Given the description of an element on the screen output the (x, y) to click on. 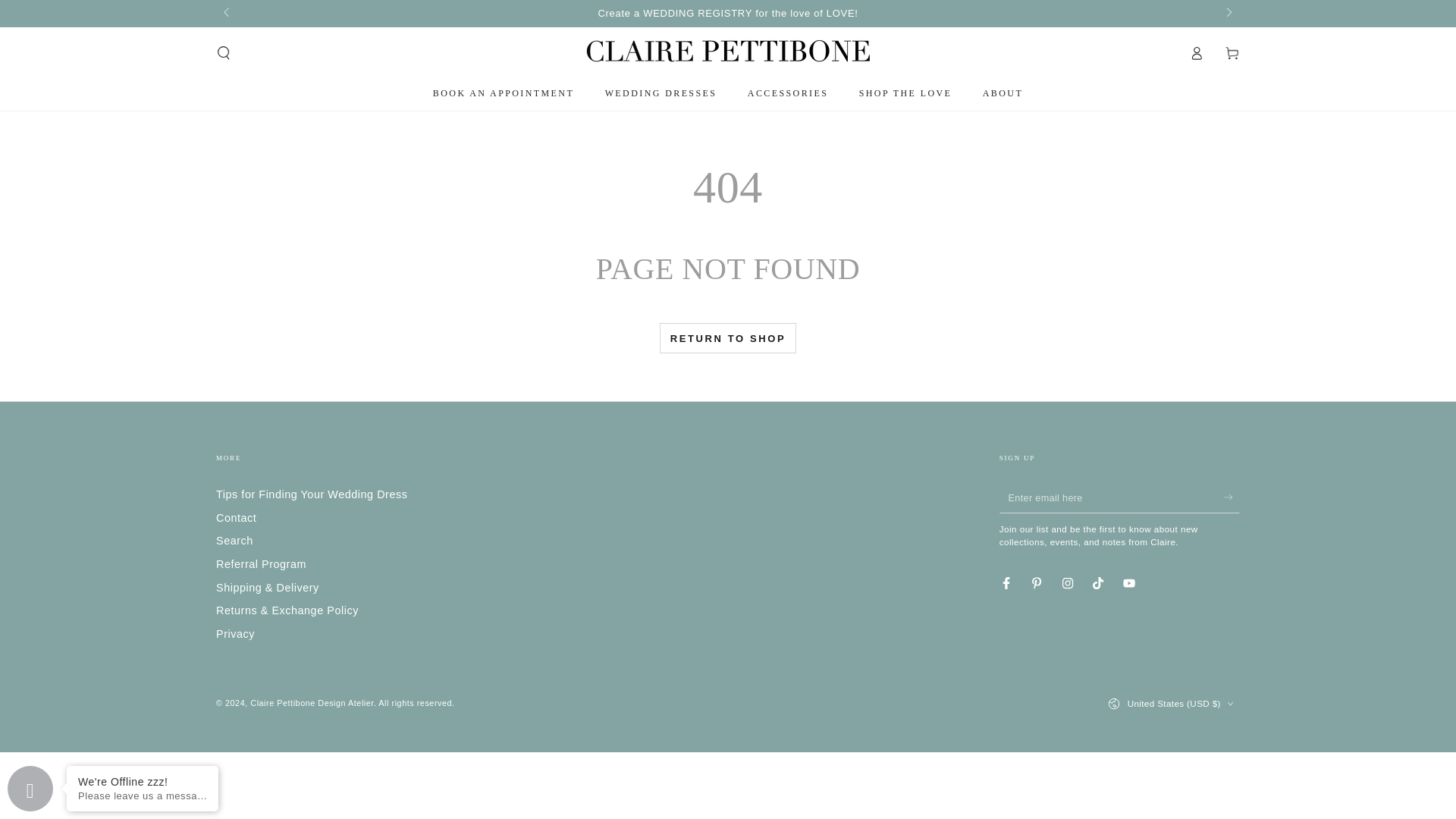
We're Offline zzz! (142, 781)
SKIP TO CONTENT (61, 13)
Please leave us a message (142, 795)
Create a WEDDING REGISTRY for the love of LOVE! (726, 13)
